Given the description of an element on the screen output the (x, y) to click on. 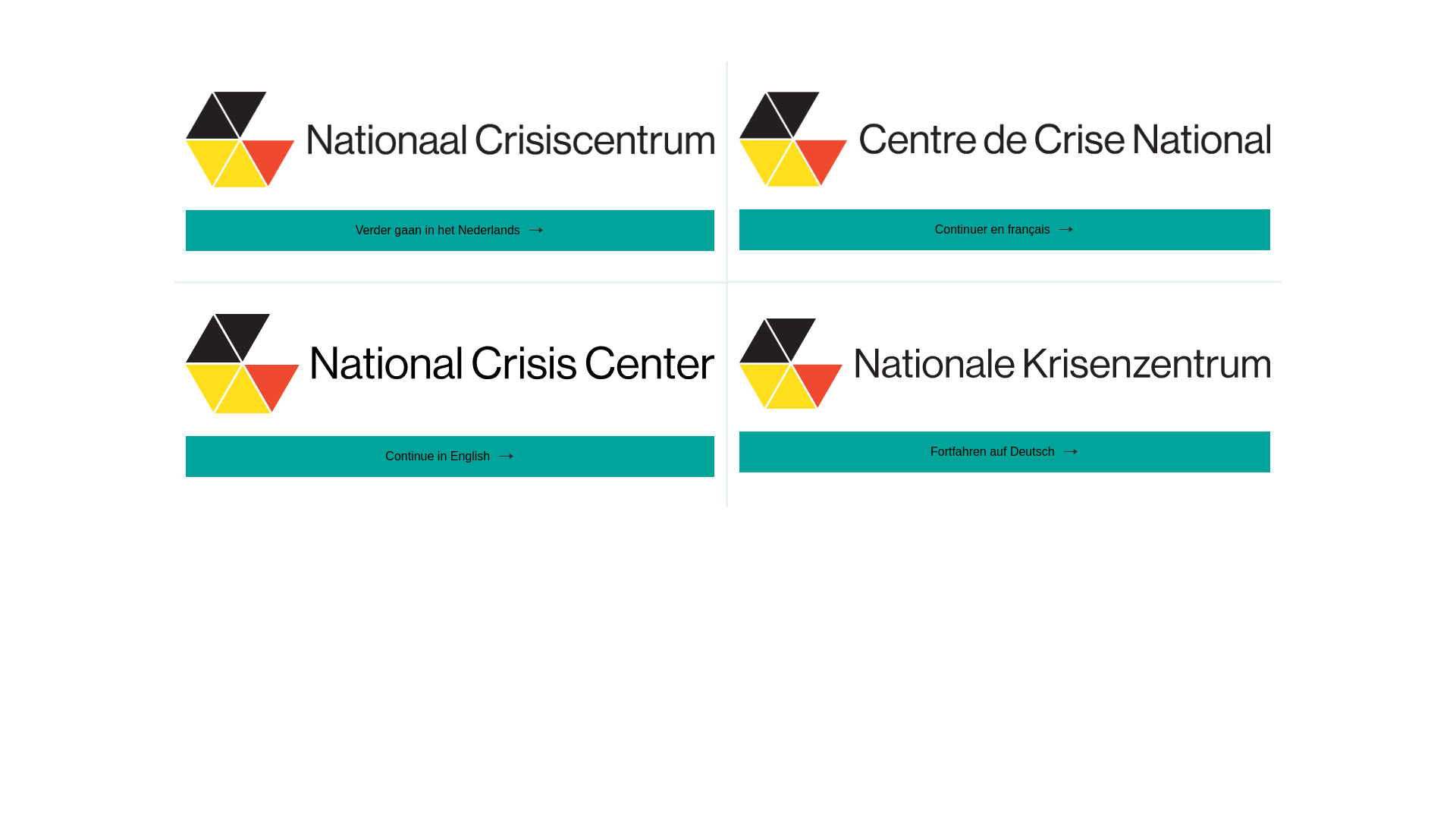
Continue in English Element type: text (449, 394)
Fortfahren auf Deutsch Element type: text (1004, 395)
Verder gaan in het Nederlands Element type: text (449, 171)
